Given the description of an element on the screen output the (x, y) to click on. 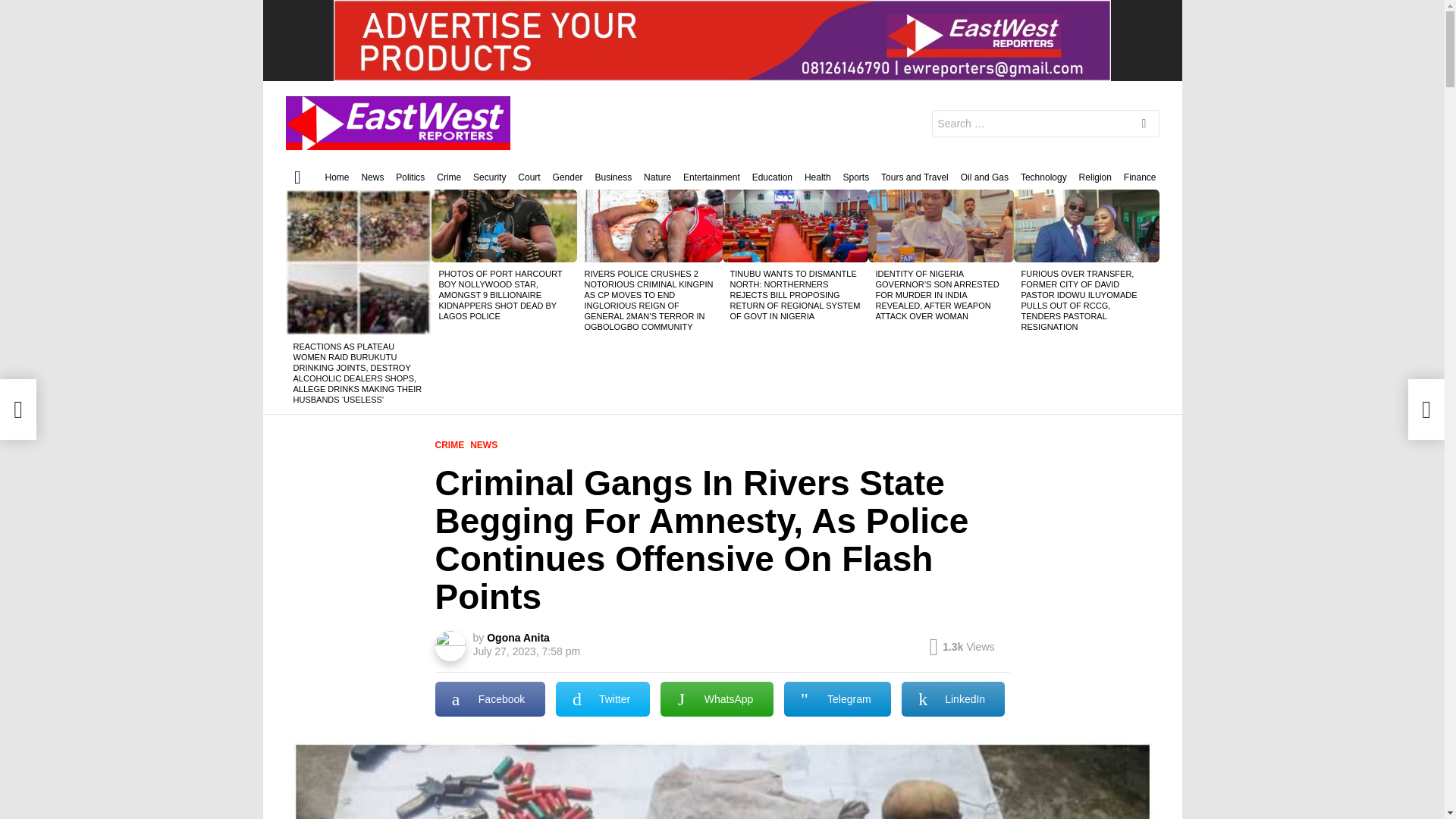
Gender (568, 177)
Share on LinkedIn (953, 698)
Sports (856, 177)
News (372, 177)
Business (613, 177)
Technology (1043, 177)
Share on Telegram (837, 698)
Oil and Gas (984, 177)
Politics (410, 177)
Crime (448, 177)
